Given the description of an element on the screen output the (x, y) to click on. 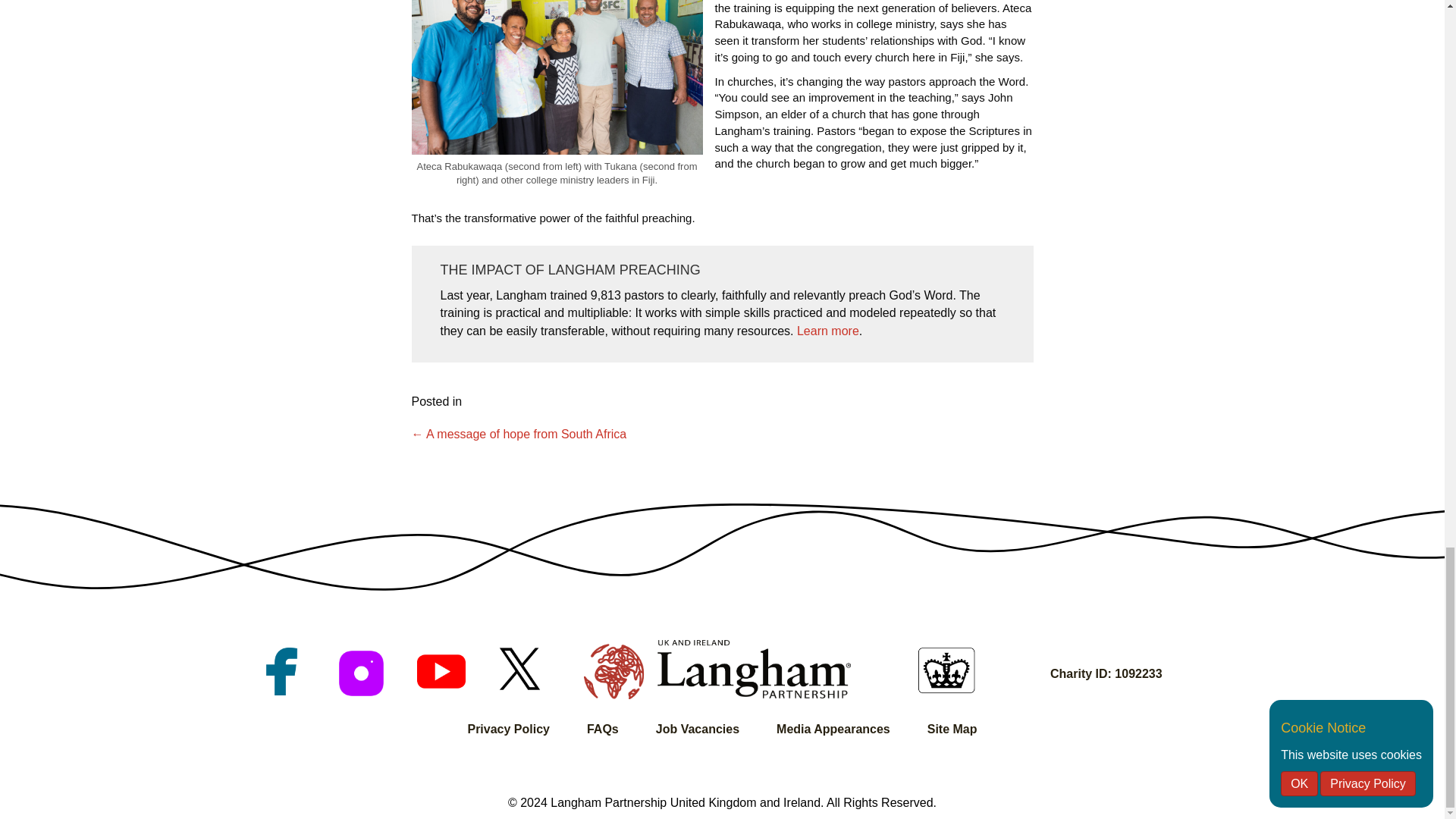
Instagram (361, 673)
Facebook (281, 671)
YouTube (440, 671)
Charity Commission (945, 670)
